Given the description of an element on the screen output the (x, y) to click on. 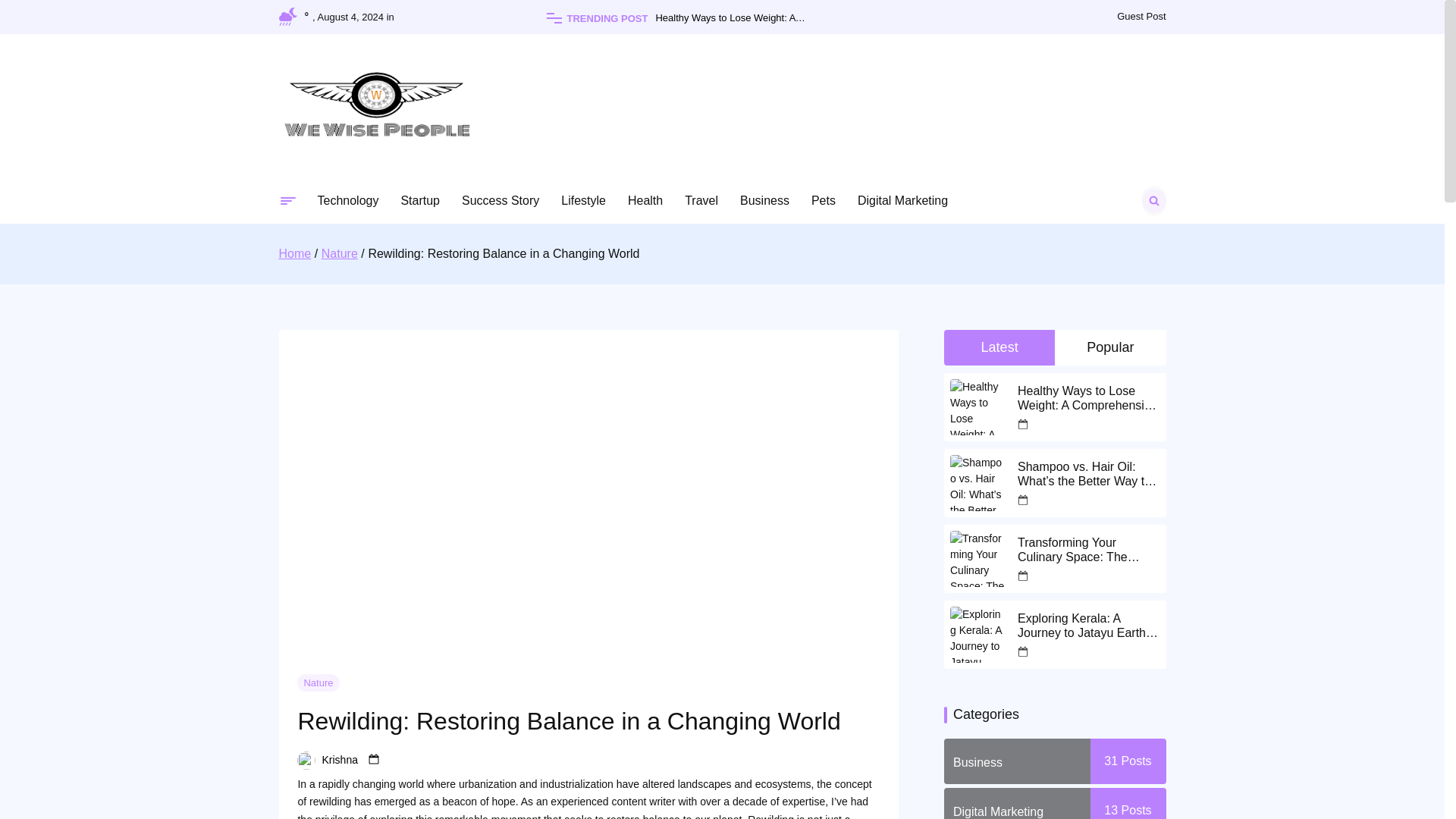
Startup (419, 200)
Guest Post (1141, 16)
Healthy Ways to Lose Weight: A Comprehensive Guide (756, 18)
Success Story (500, 200)
Lifestyle (583, 200)
Technology (347, 200)
Business (764, 200)
